Given the description of an element on the screen output the (x, y) to click on. 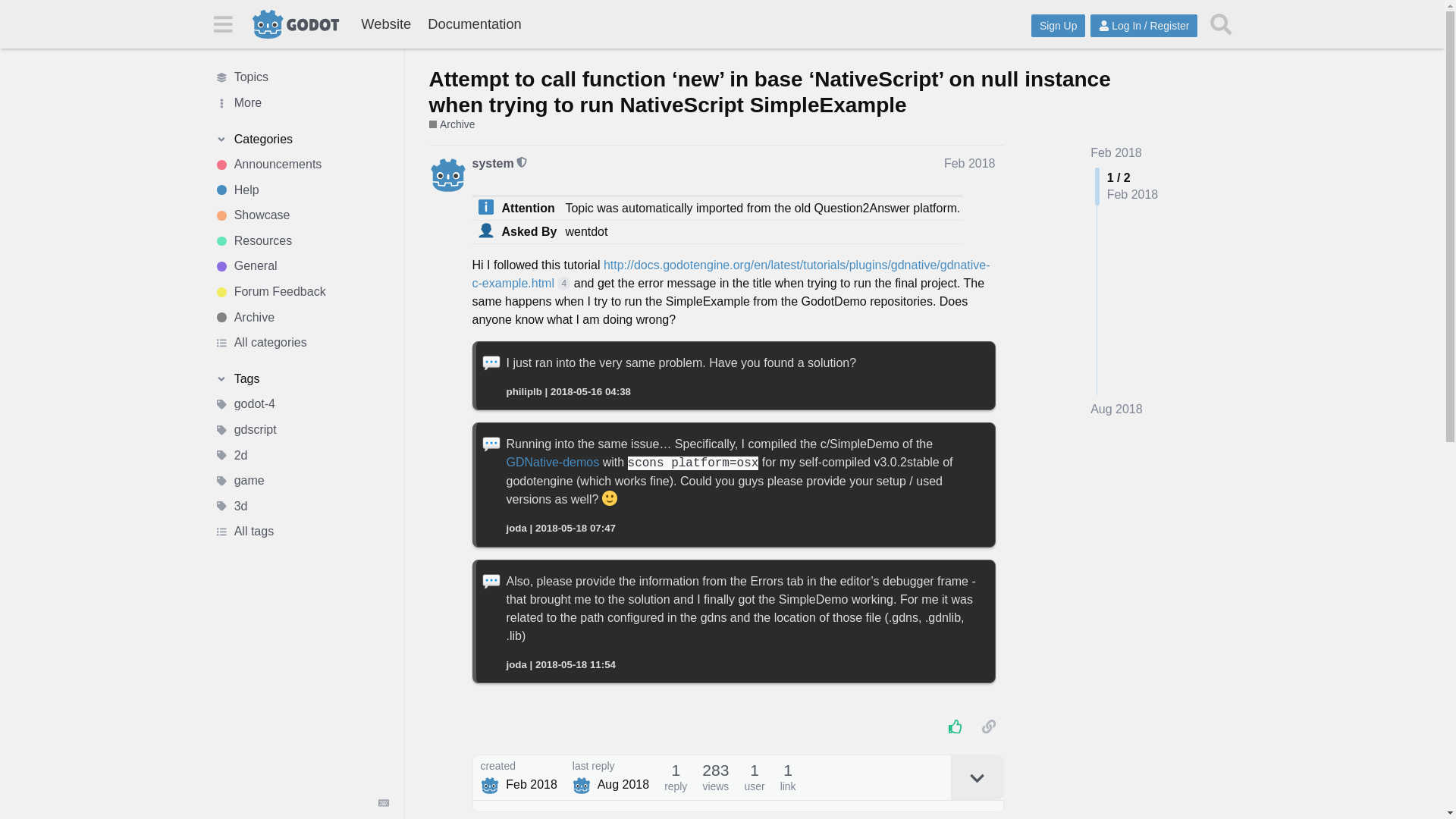
Topics (301, 77)
Search (1220, 23)
game (301, 481)
Categories (301, 139)
Forum Feedback (301, 291)
Website (385, 23)
Toggle section (301, 379)
Resources (301, 240)
Aug 2018 (1116, 409)
The Godot Engine website (385, 23)
Archive (301, 317)
All topics (301, 77)
Feb 2018 (1115, 152)
All categories (301, 343)
Documentation (474, 23)
